Given the description of an element on the screen output the (x, y) to click on. 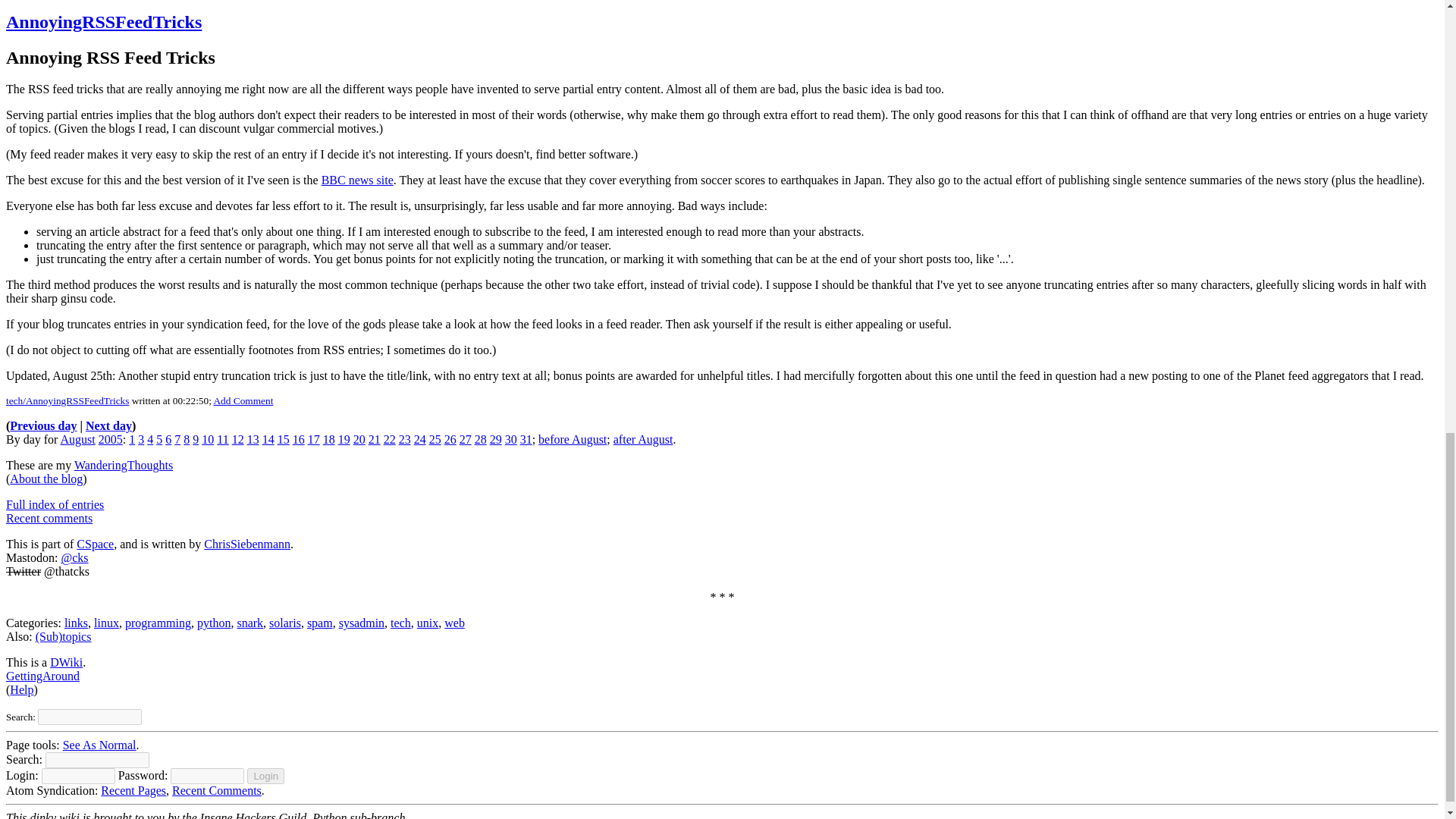
16 (298, 439)
Next day (108, 425)
12 (237, 439)
AnnoyingRSSFeedTricks (103, 21)
2005 (110, 439)
14 (268, 439)
13 (253, 439)
BBC news site (357, 179)
10 (208, 439)
15 (283, 439)
